Given the description of an element on the screen output the (x, y) to click on. 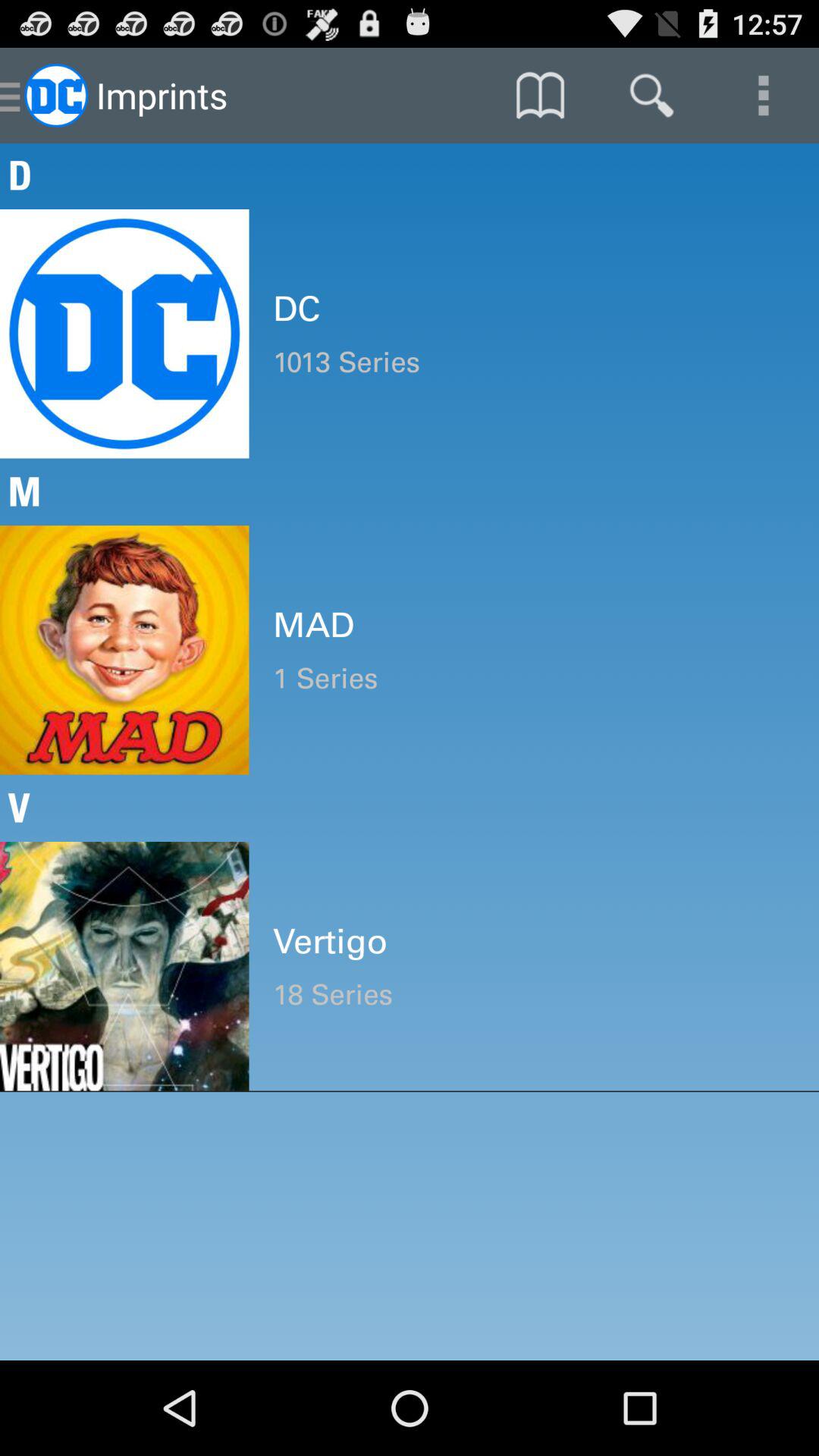
open the 18 series (534, 994)
